Given the description of an element on the screen output the (x, y) to click on. 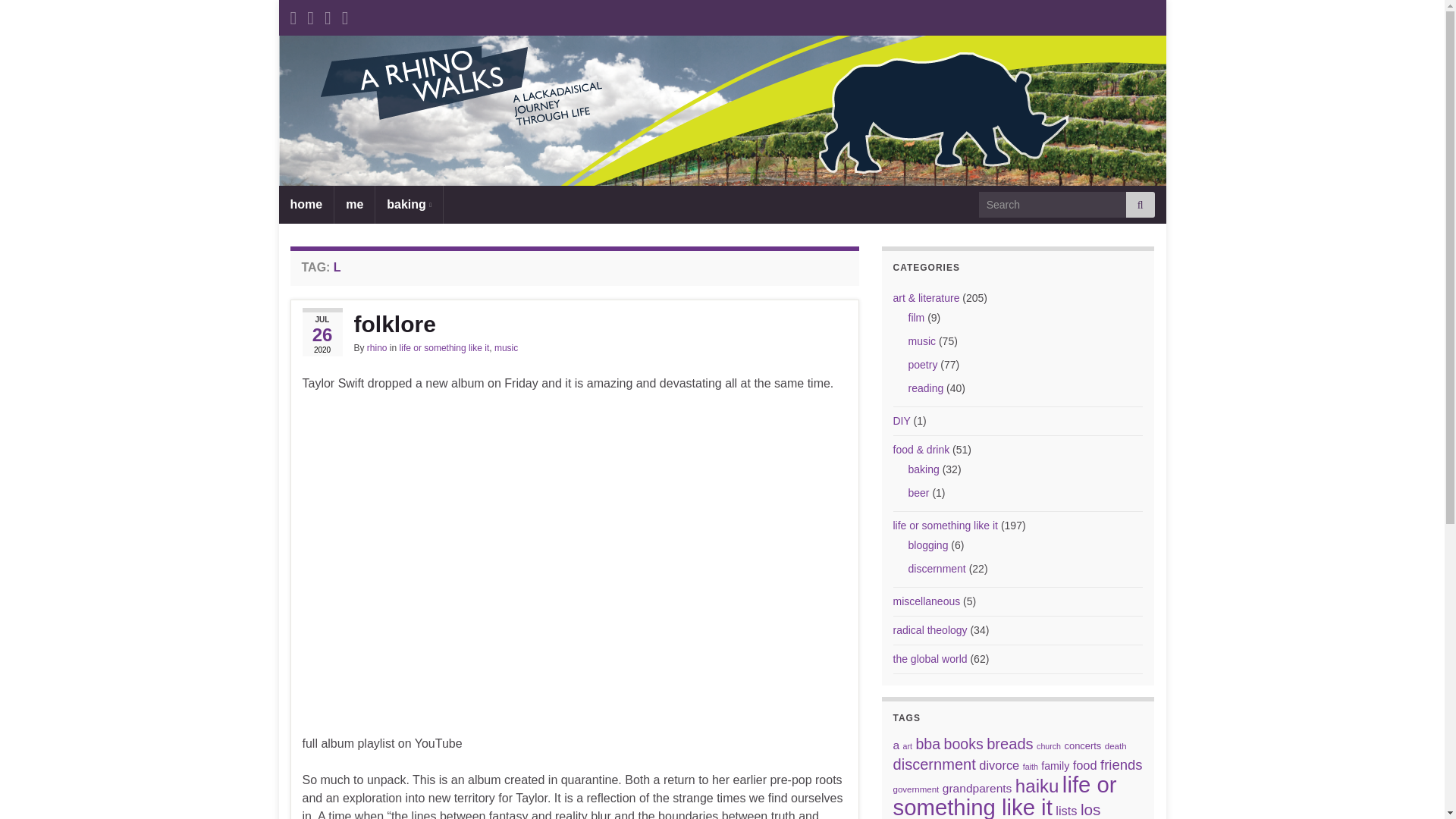
music (922, 340)
bba (927, 743)
baking (408, 204)
me (354, 204)
the global world (930, 658)
discernment (937, 568)
radical theology (930, 630)
home (306, 204)
poetry (922, 364)
blogging (928, 544)
